Given the description of an element on the screen output the (x, y) to click on. 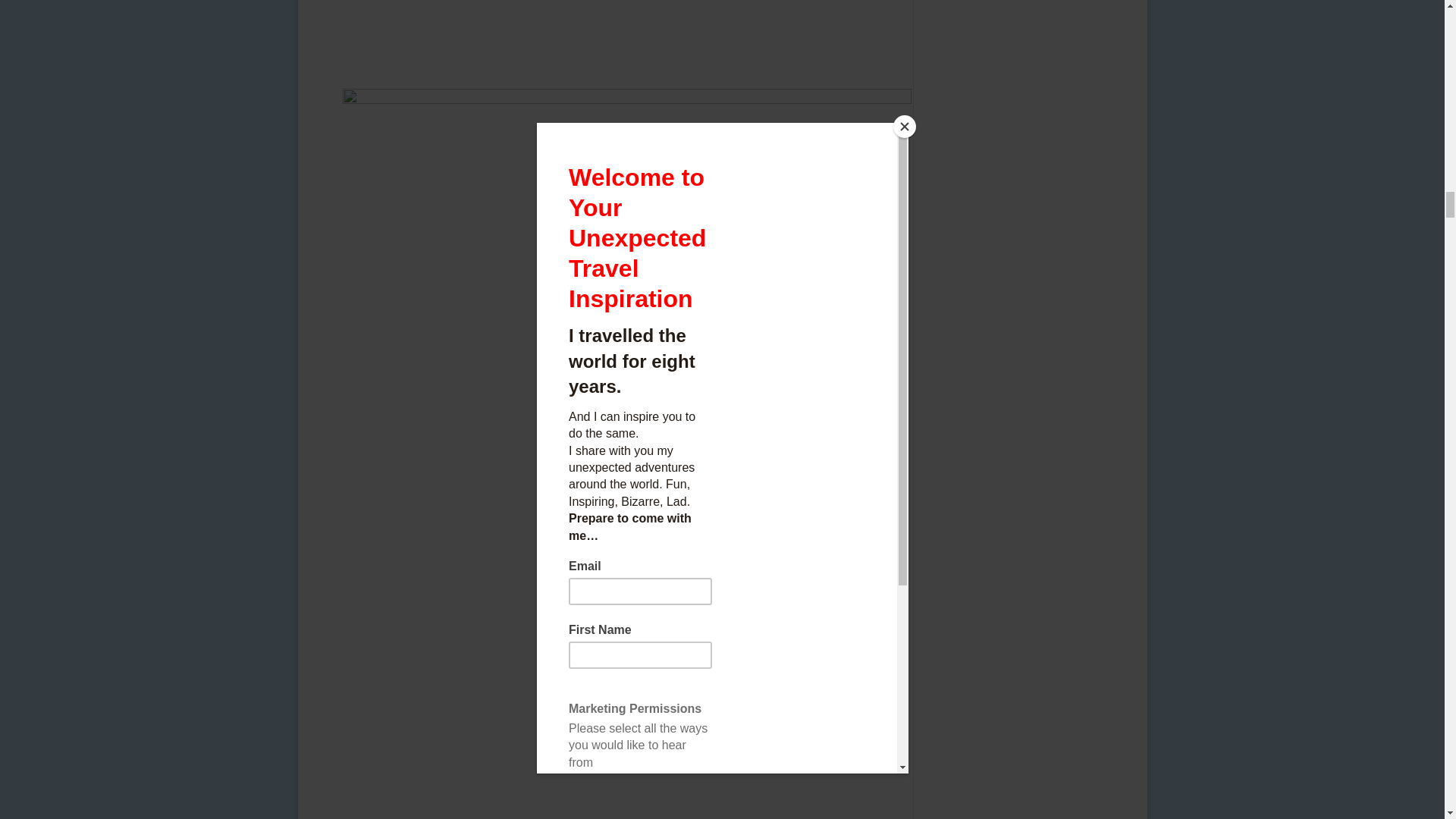
View of the London Skyline (626, 38)
